Given the description of an element on the screen output the (x, y) to click on. 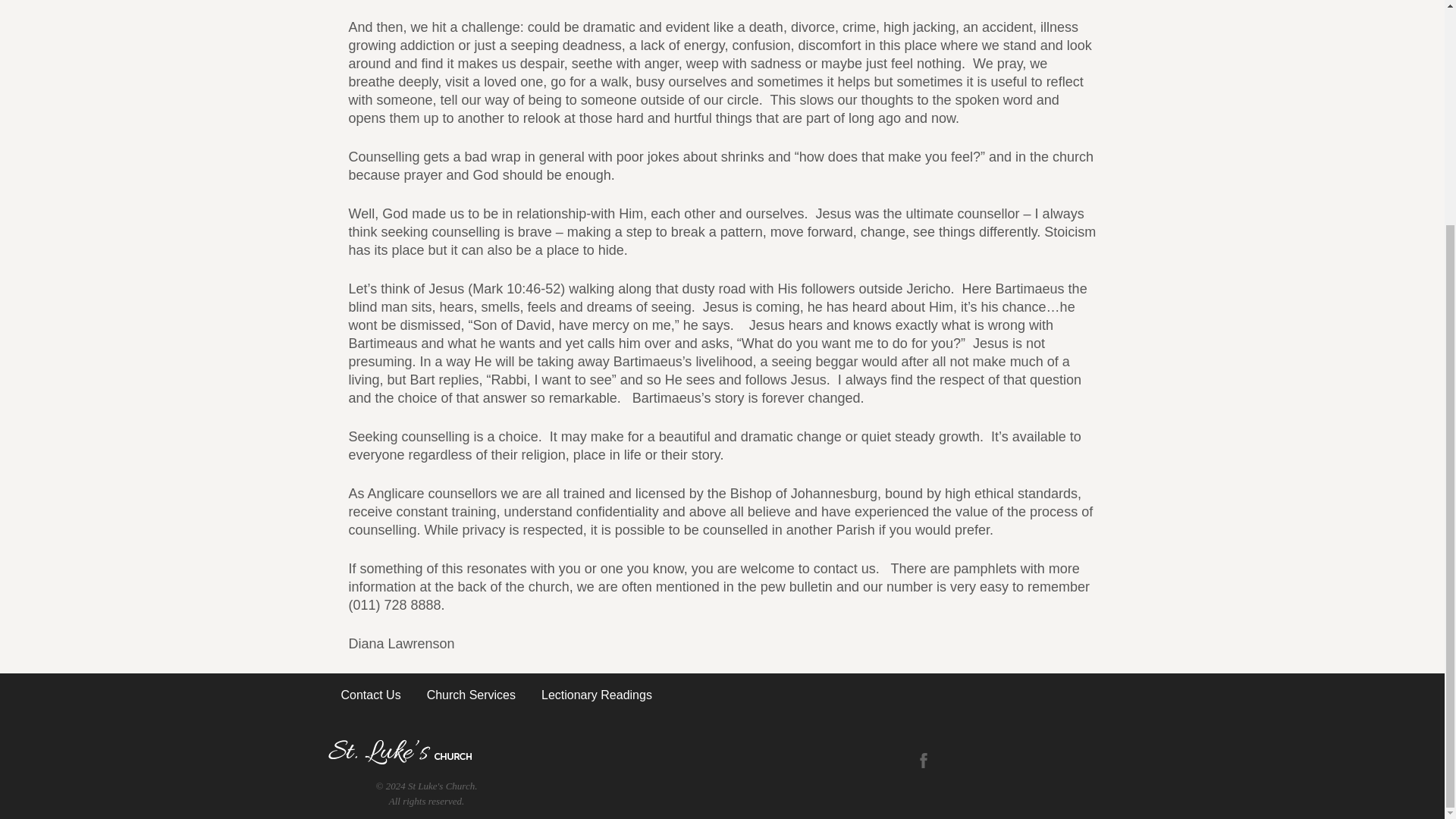
Church Services (470, 694)
Contact Us (370, 694)
Lectionary Readings (596, 694)
